Given the description of an element on the screen output the (x, y) to click on. 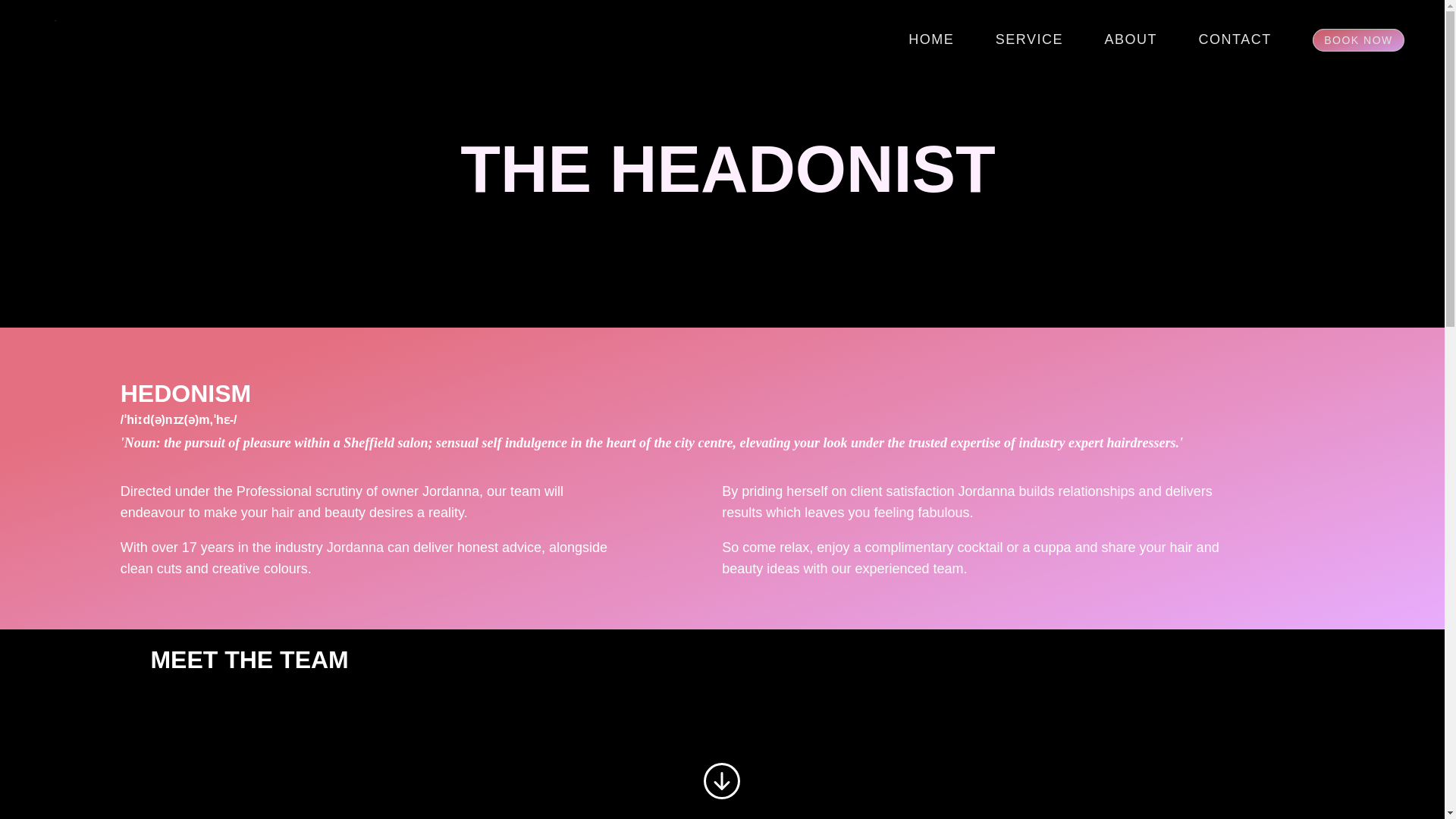
ABOUT (1131, 38)
HOME (930, 38)
CONTACT (1234, 38)
SERVICE (1028, 38)
BOOK NOW (1359, 39)
